Given the description of an element on the screen output the (x, y) to click on. 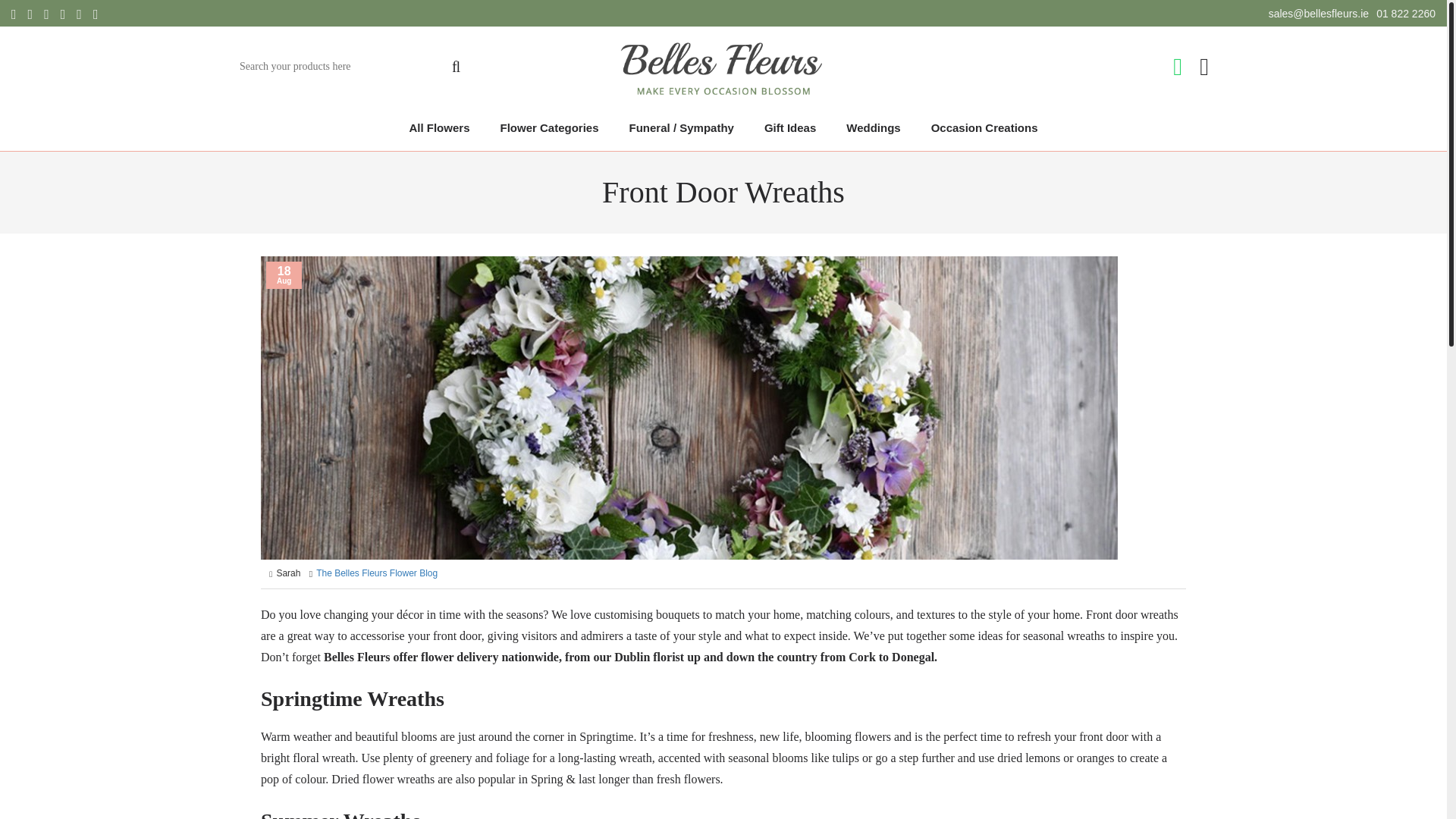
Belles Fleurs Flowers (722, 69)
01 822 2260 (1406, 14)
Gift Ideas (790, 127)
Flower Categories (548, 127)
Weddings (873, 127)
Occasion Creations (983, 127)
All Flowers (438, 127)
